Given the description of an element on the screen output the (x, y) to click on. 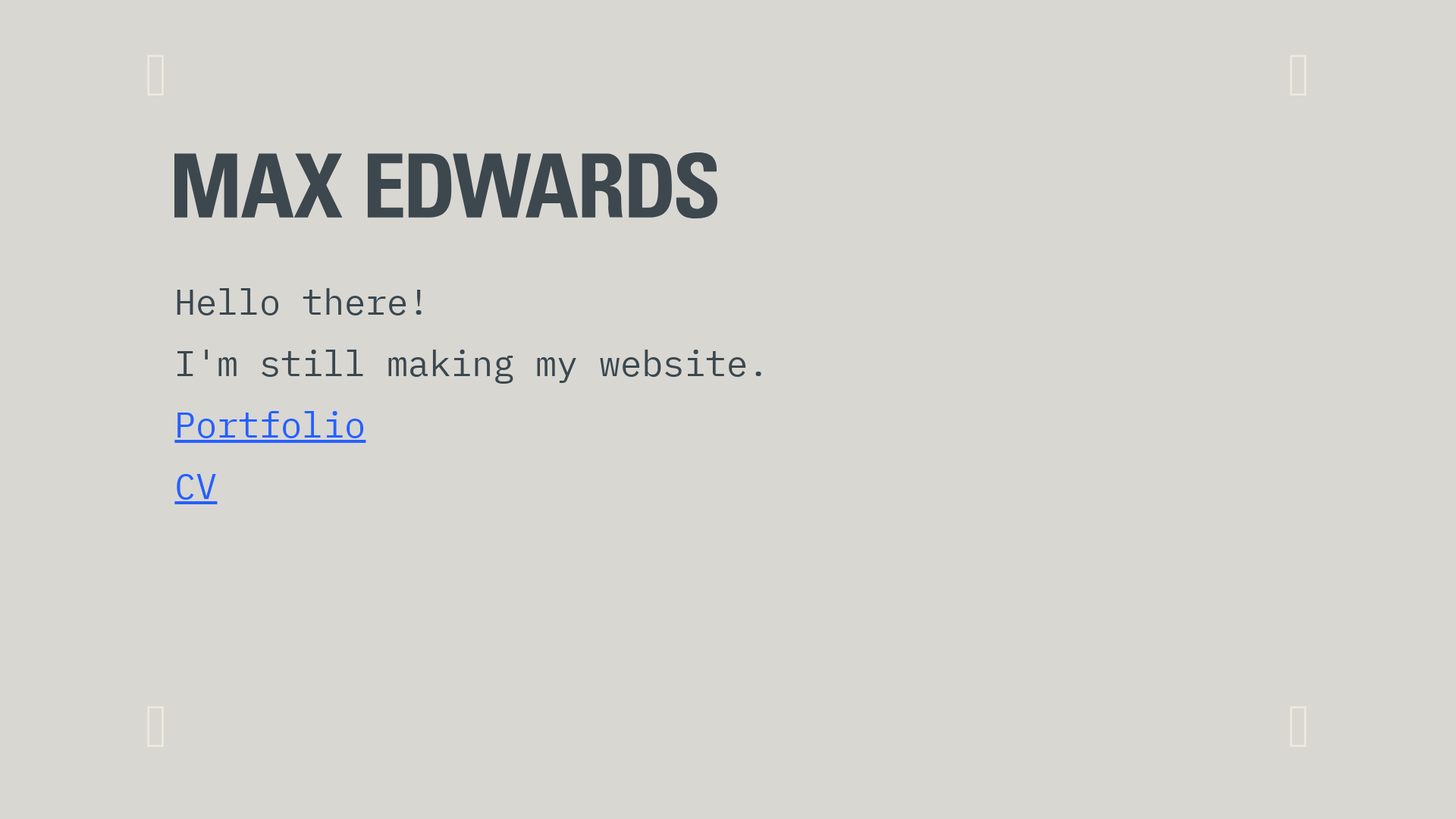
Portfolio Element type: text (269, 424)
CV Element type: text (195, 485)
